Given the description of an element on the screen output the (x, y) to click on. 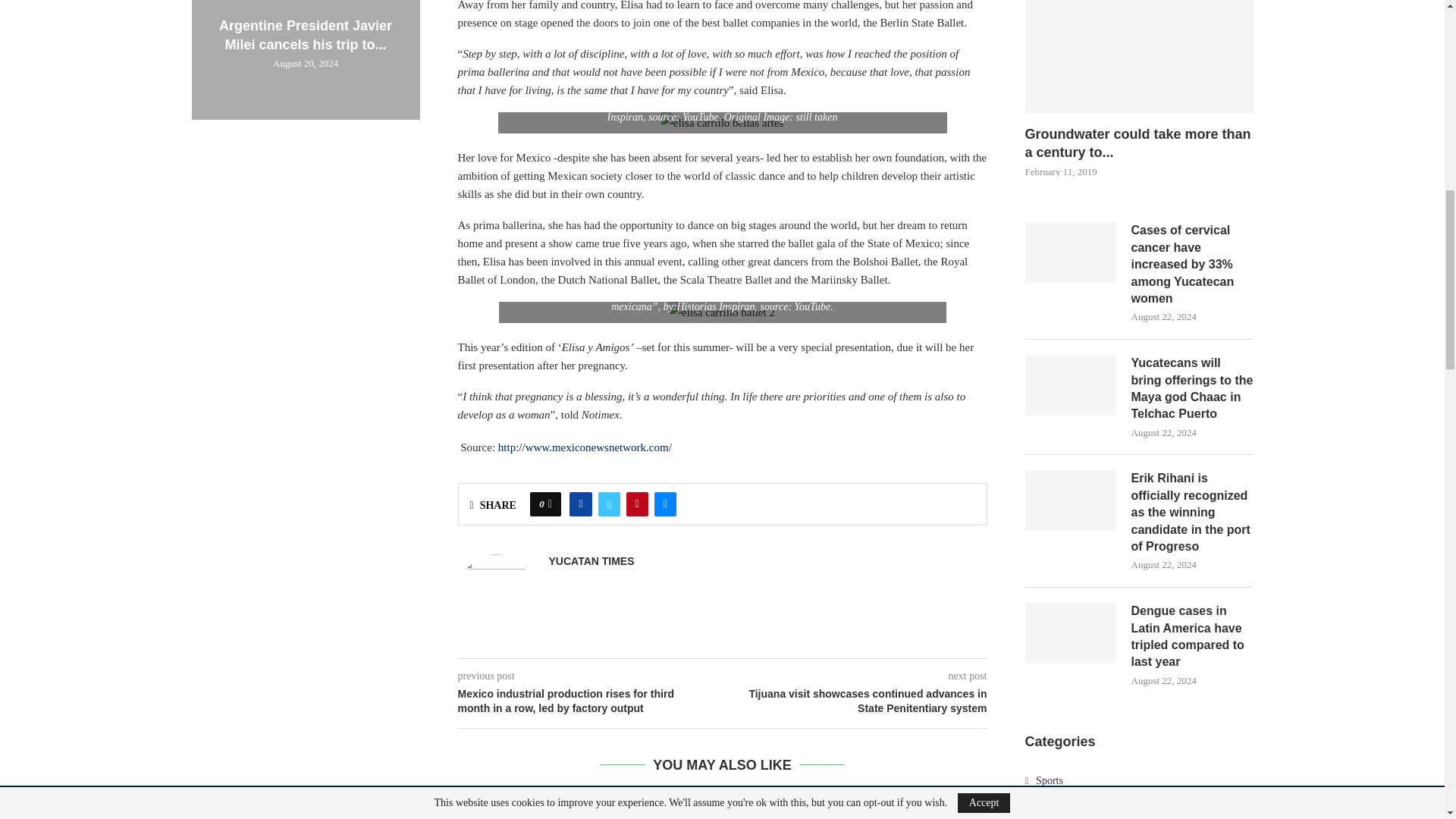
Author Yucatan Times (591, 561)
